Given the description of an element on the screen output the (x, y) to click on. 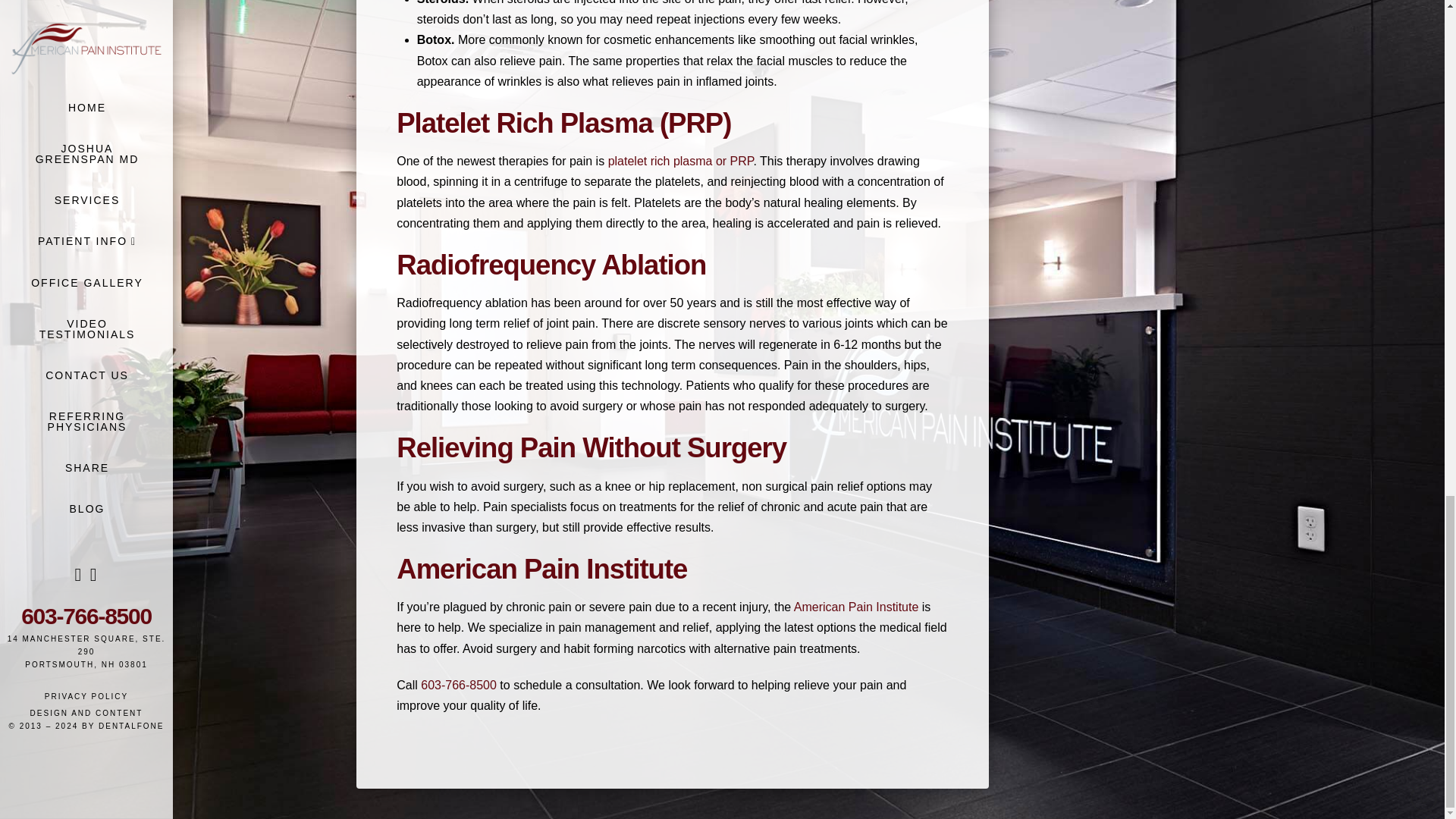
Phone Number (459, 684)
